Given the description of an element on the screen output the (x, y) to click on. 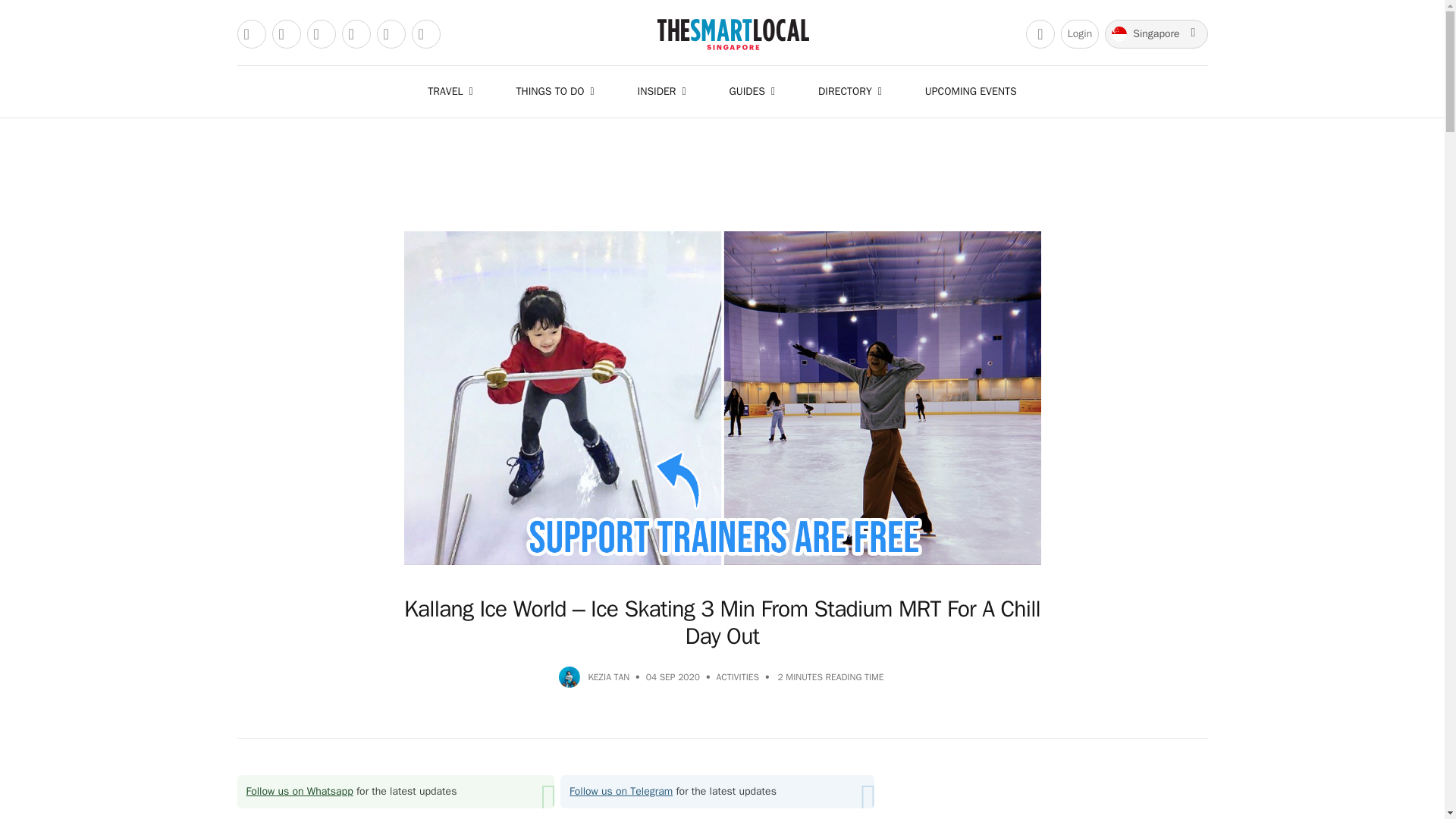
Login (1080, 33)
Posts by Kezia Tan (608, 676)
TRAVEL (453, 91)
Singapore (1156, 33)
Open search popup (1040, 33)
